Given the description of an element on the screen output the (x, y) to click on. 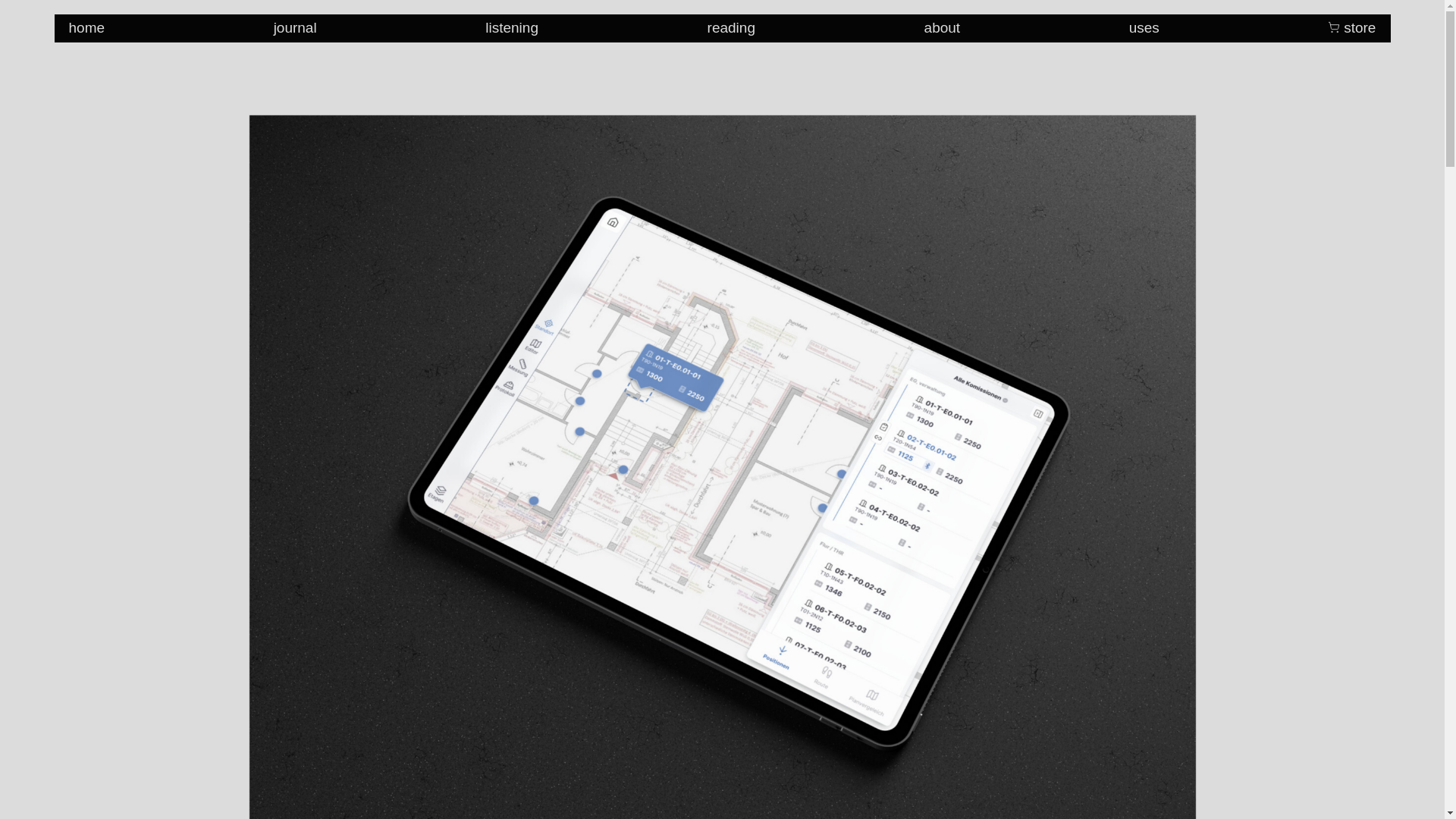
store (1351, 28)
about (942, 28)
uses (1143, 28)
listening (511, 28)
journal (295, 28)
reading (731, 28)
home (86, 28)
